Given the description of an element on the screen output the (x, y) to click on. 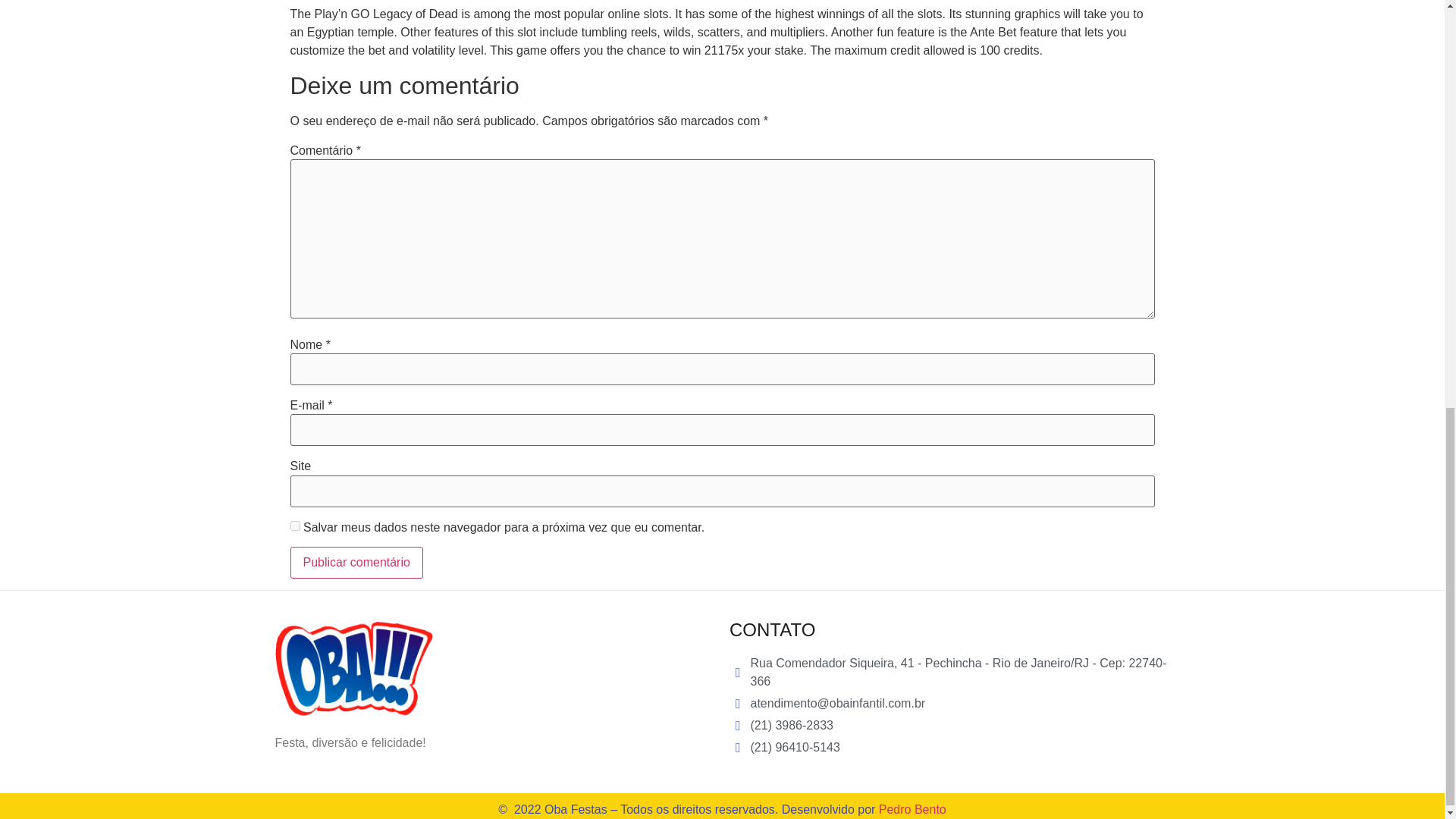
yes (294, 525)
Pedro Bento (912, 809)
